Given the description of an element on the screen output the (x, y) to click on. 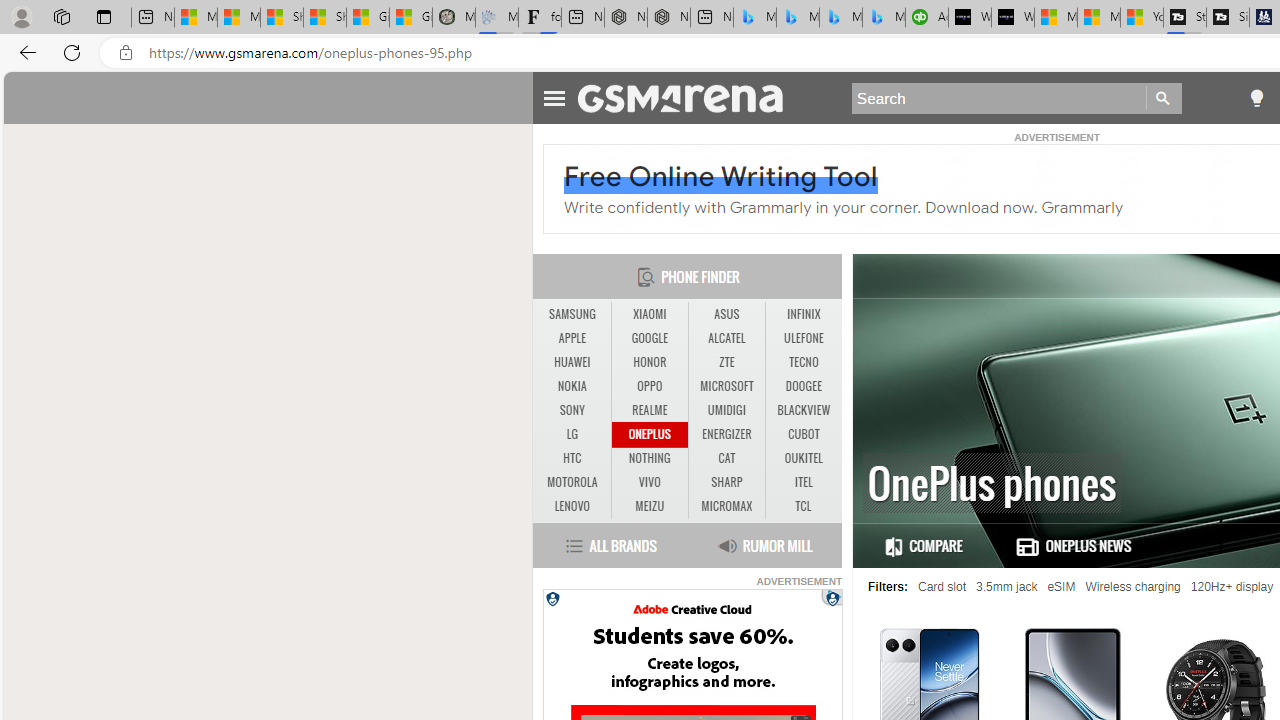
BLACKVIEW (803, 411)
Card slot (941, 587)
CAT (726, 458)
HONOR (649, 362)
eSIM (1061, 587)
REALME (649, 411)
SAMSUNG (571, 313)
Toggle Navigation (553, 95)
MOTOROLA (571, 483)
Free Online Writing Tool (721, 176)
SONY (571, 411)
Microsoft Bing Travel - Stays in Bangkok, Bangkok, Thailand (798, 17)
REALME (649, 410)
